Given the description of an element on the screen output the (x, y) to click on. 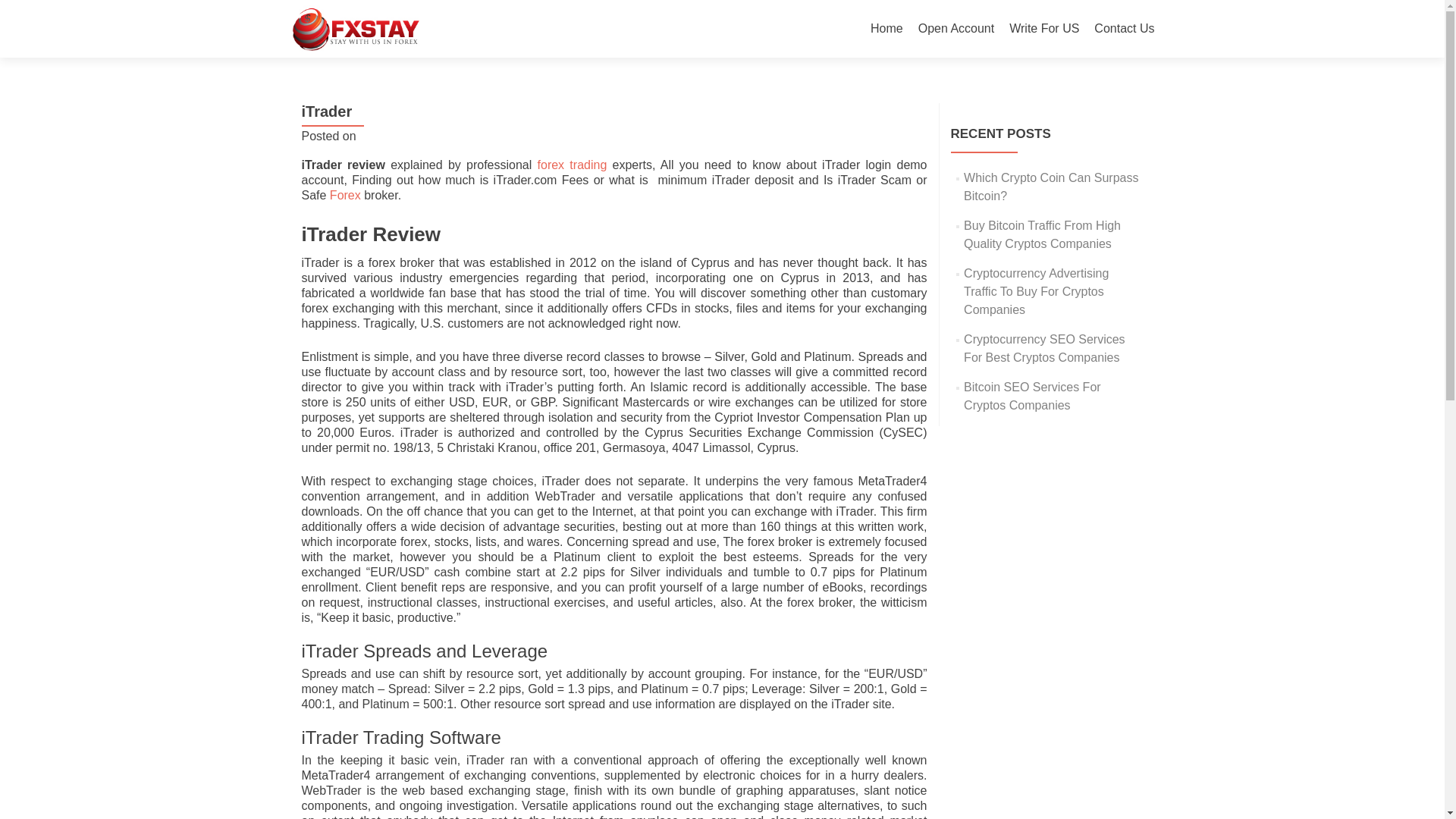
Forex (345, 195)
Write For US (1043, 28)
Which Crypto Coin Can Surpass Bitcoin? (1050, 186)
Open Account (956, 28)
Home (886, 28)
forex trading (572, 164)
Contact Us (1124, 28)
Bitcoin SEO Services For Cryptos Companies (1031, 395)
Buy Bitcoin Traffic From High Quality Cryptos Companies (1042, 234)
Cryptocurrency SEO Services For Best Cryptos Companies (1044, 347)
